Given the description of an element on the screen output the (x, y) to click on. 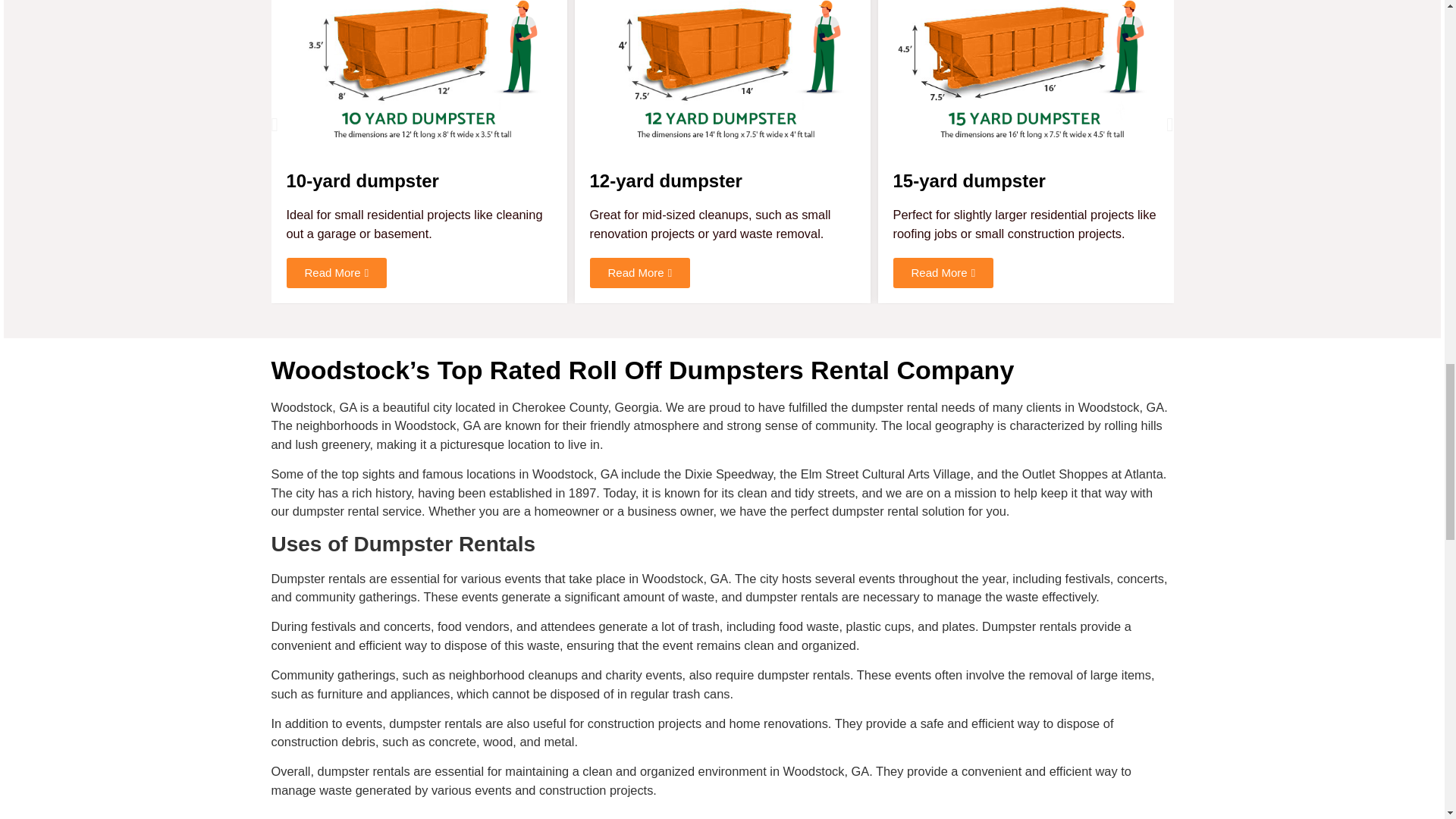
Read More (639, 273)
Read More (943, 273)
Read More (336, 273)
